Given the description of an element on the screen output the (x, y) to click on. 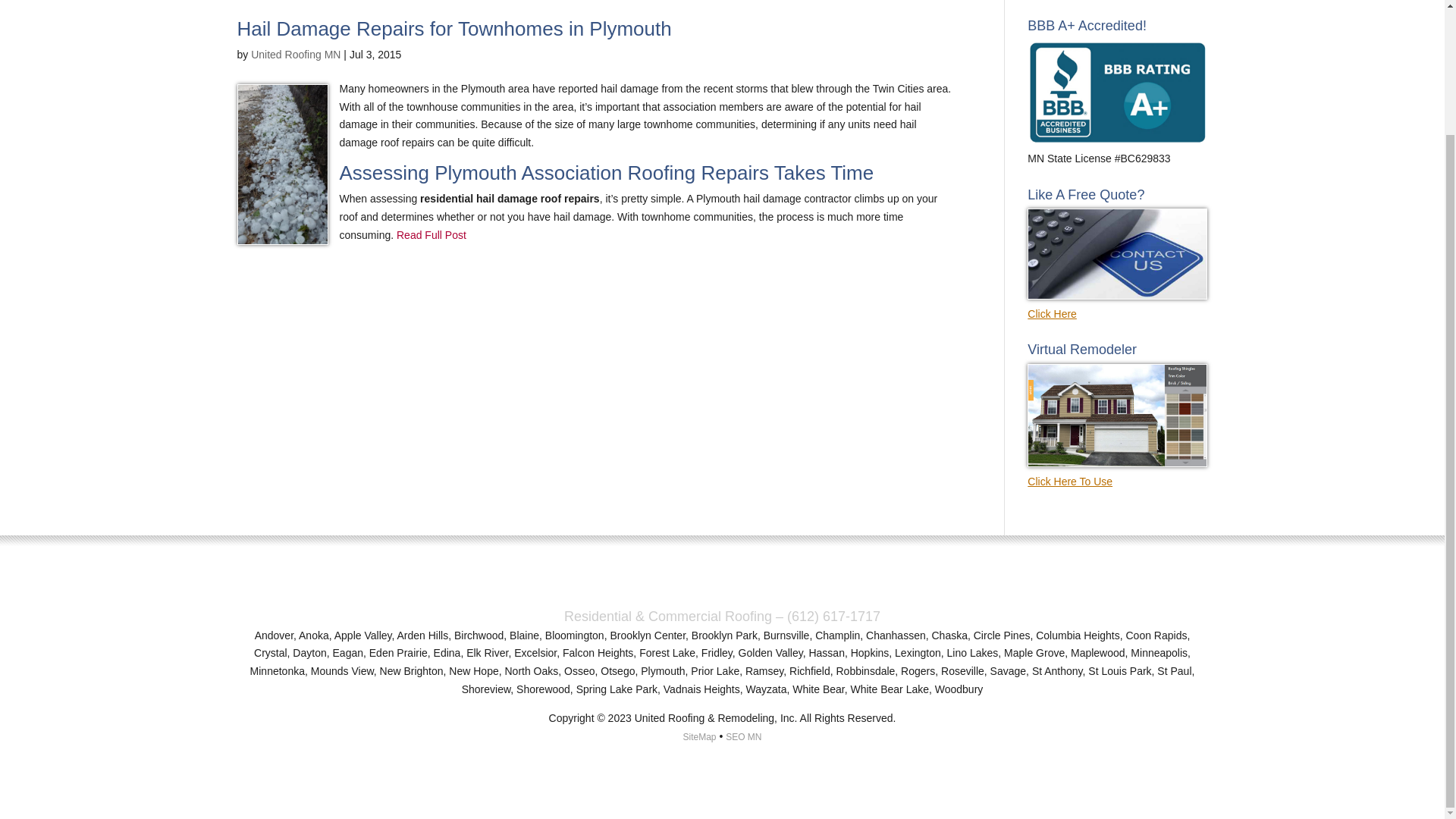
United Roofing MN (295, 54)
SiteMap (699, 737)
Click Here To Use (1117, 472)
Read Full Post (429, 234)
SEO MN (743, 737)
Click Here (1117, 304)
Hail Damage Repairs for Townhomes in Plymouth (453, 28)
Posts by United Roofing MN (295, 54)
Minnesota Search Engine Optimization Services (743, 737)
